Given the description of an element on the screen output the (x, y) to click on. 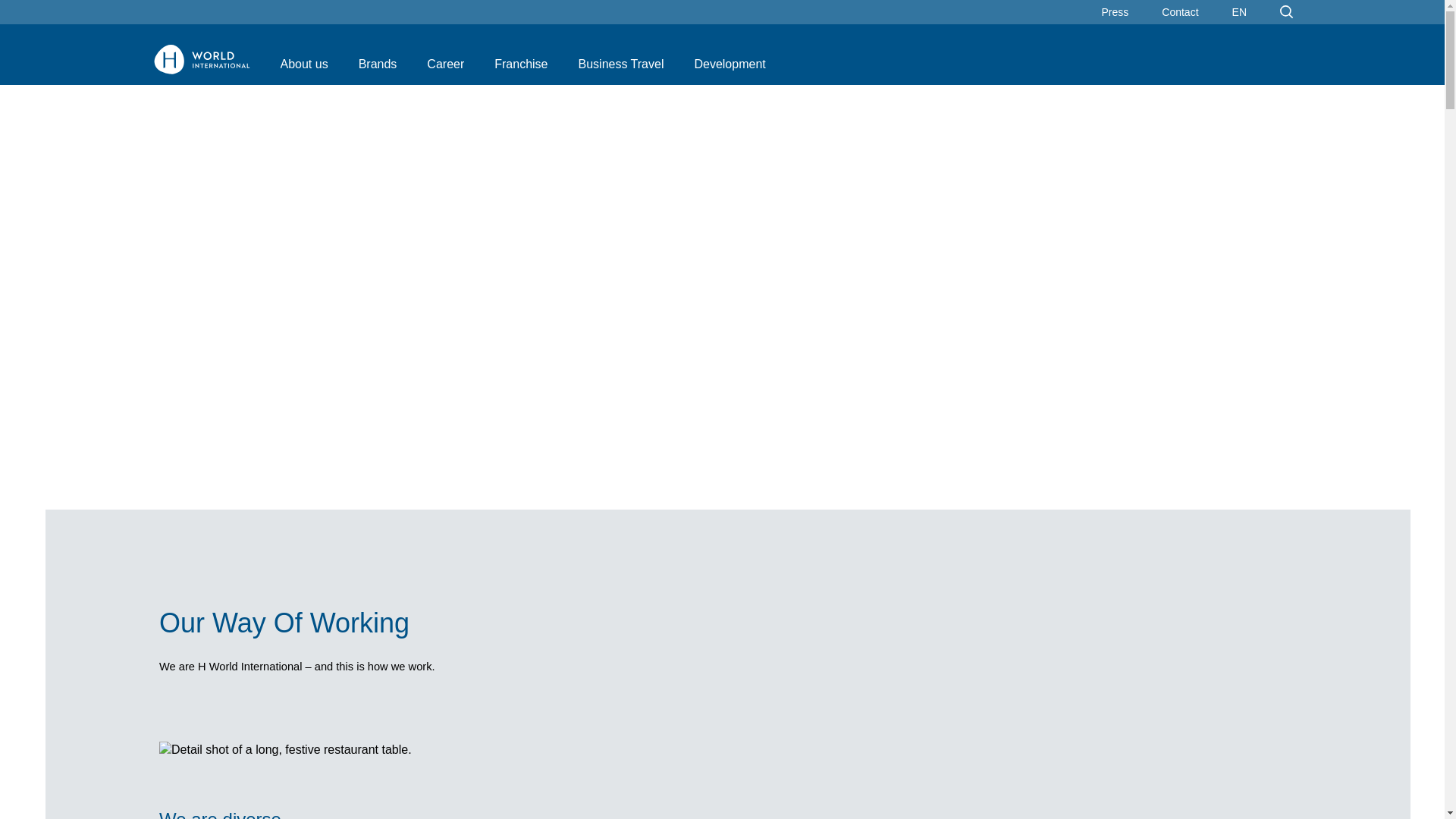
Brands (377, 64)
Career (445, 64)
Franchise (521, 64)
Business Travel (620, 64)
Development (729, 64)
About us (786, 71)
